Given the description of an element on the screen output the (x, y) to click on. 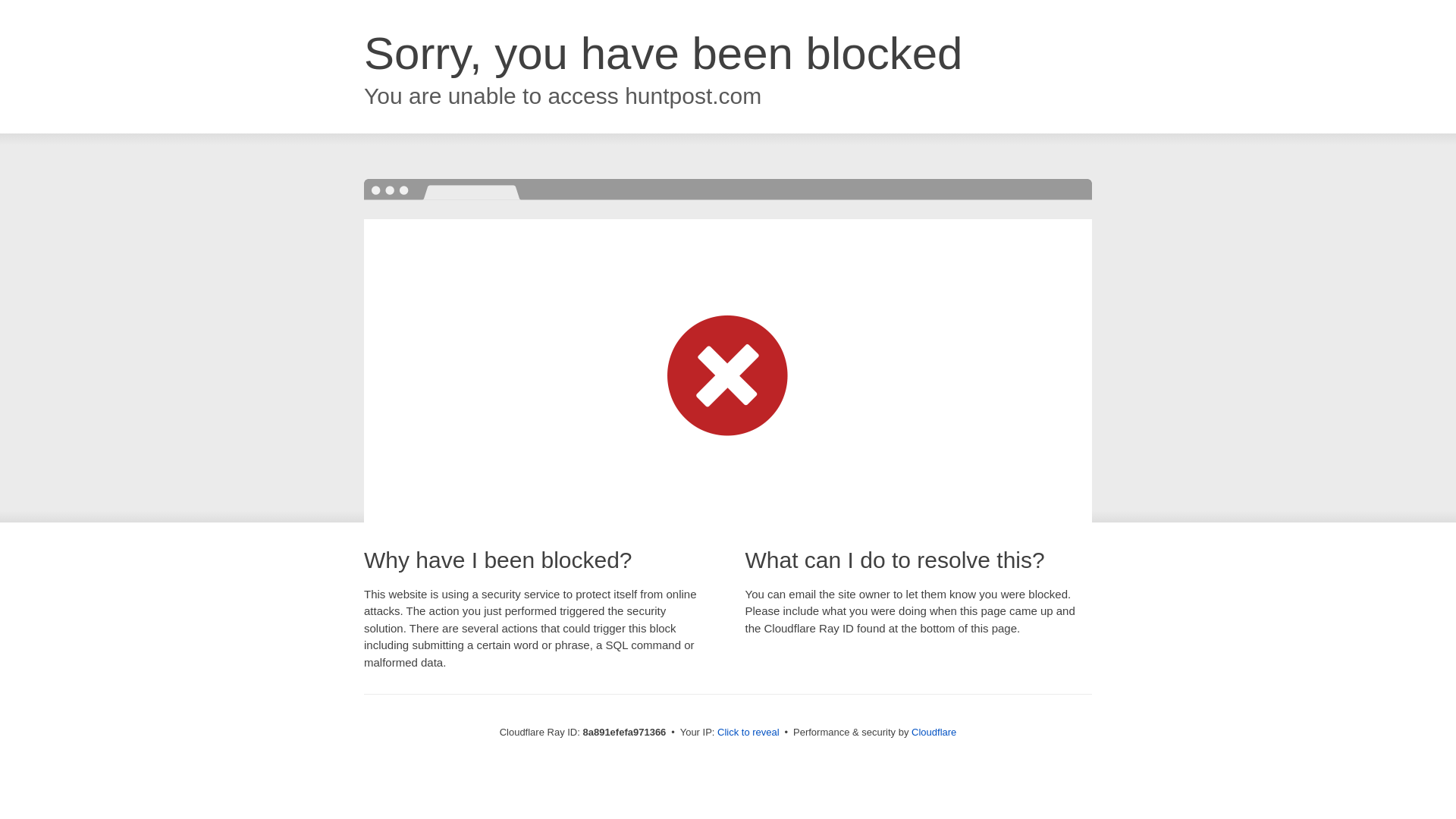
Click to reveal (747, 732)
Cloudflare (933, 731)
